Given the description of an element on the screen output the (x, y) to click on. 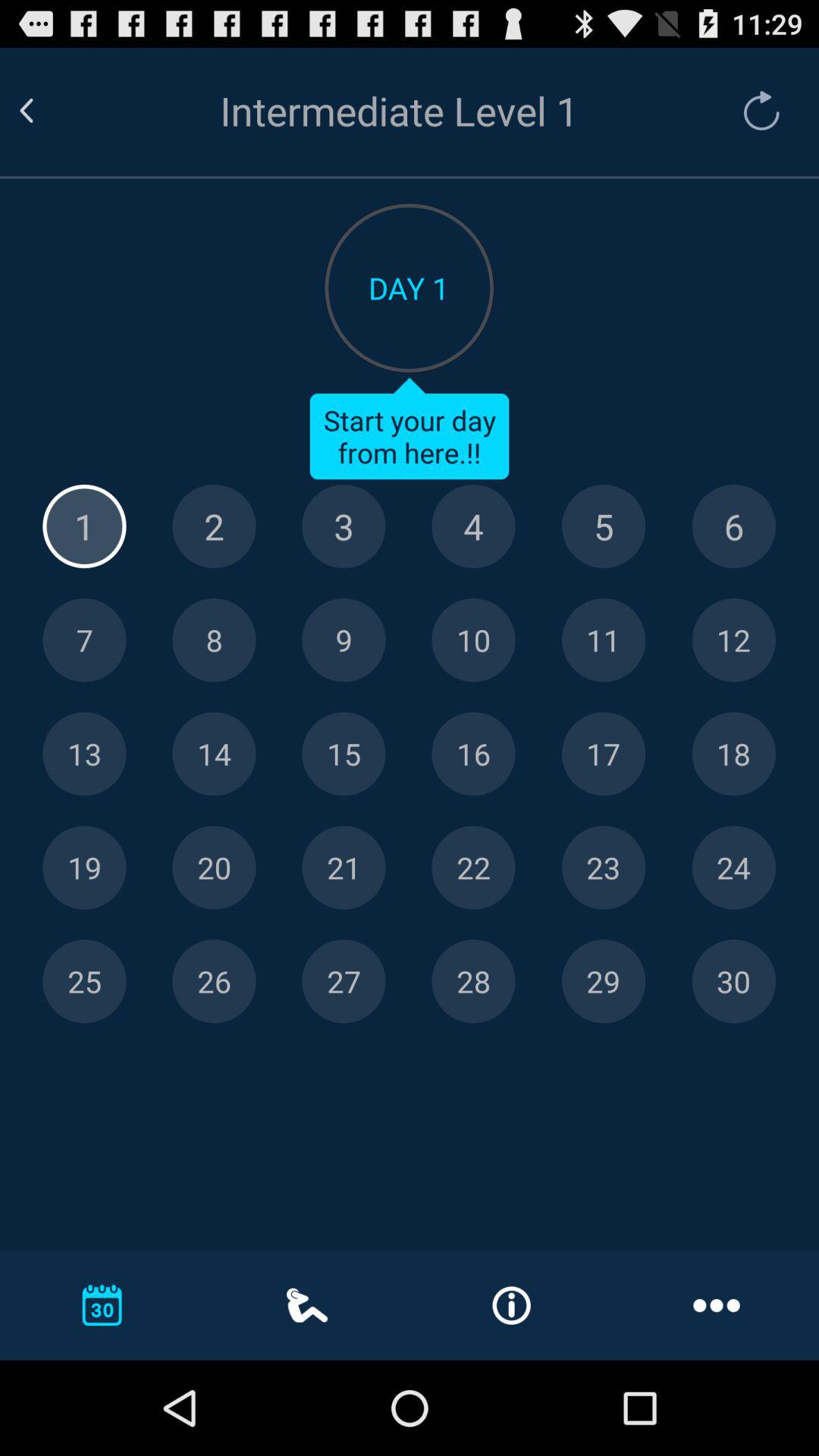
select twenty-one day (343, 867)
